Given the description of an element on the screen output the (x, y) to click on. 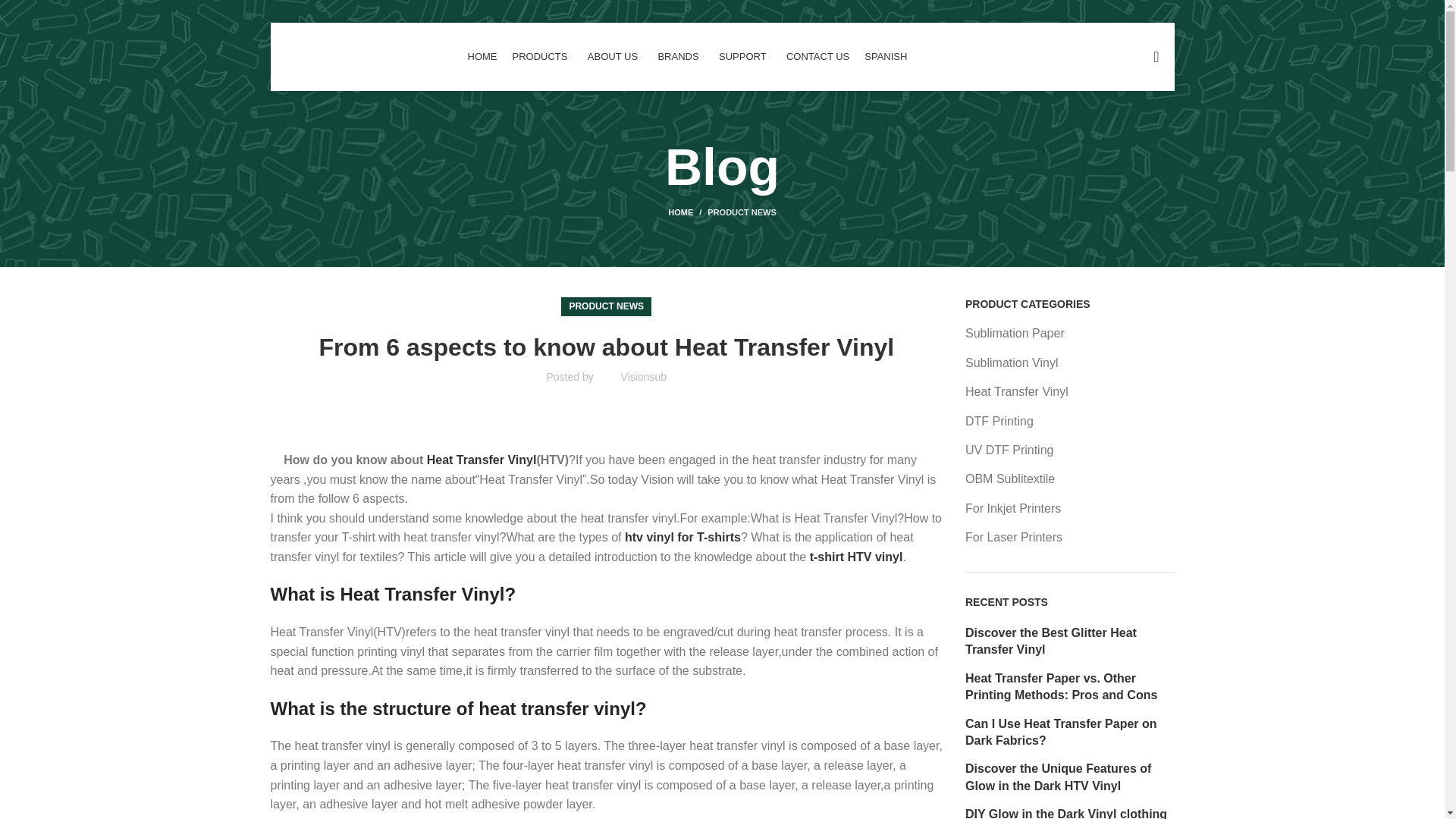
BRANDS (680, 56)
SPANISH (885, 56)
HOME (481, 56)
PRODUCT NEWS (606, 306)
ABOUT US (615, 56)
PRODUCT NEWS (741, 212)
Visionsub (643, 377)
PRODUCTS (542, 56)
HOME (687, 212)
CONTACT US (817, 56)
